Given the description of an element on the screen output the (x, y) to click on. 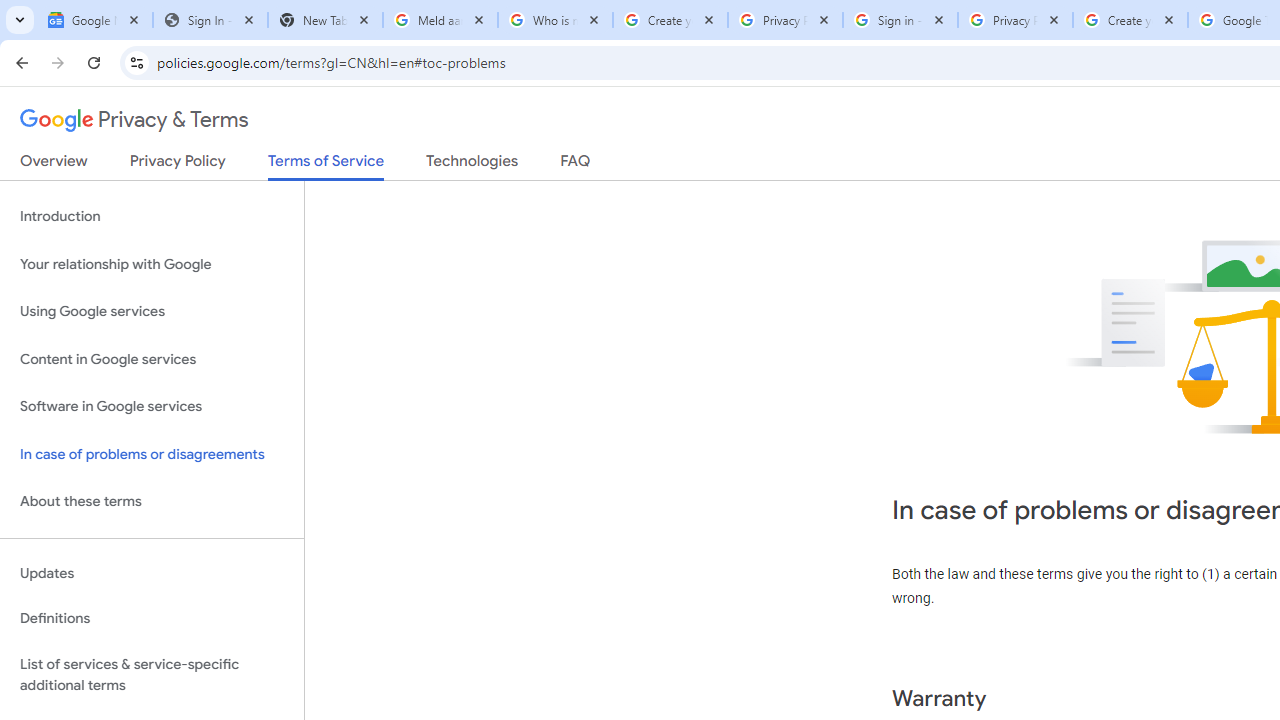
Technologies (472, 165)
List of services & service-specific additional terms (152, 674)
